Given the description of an element on the screen output the (x, y) to click on. 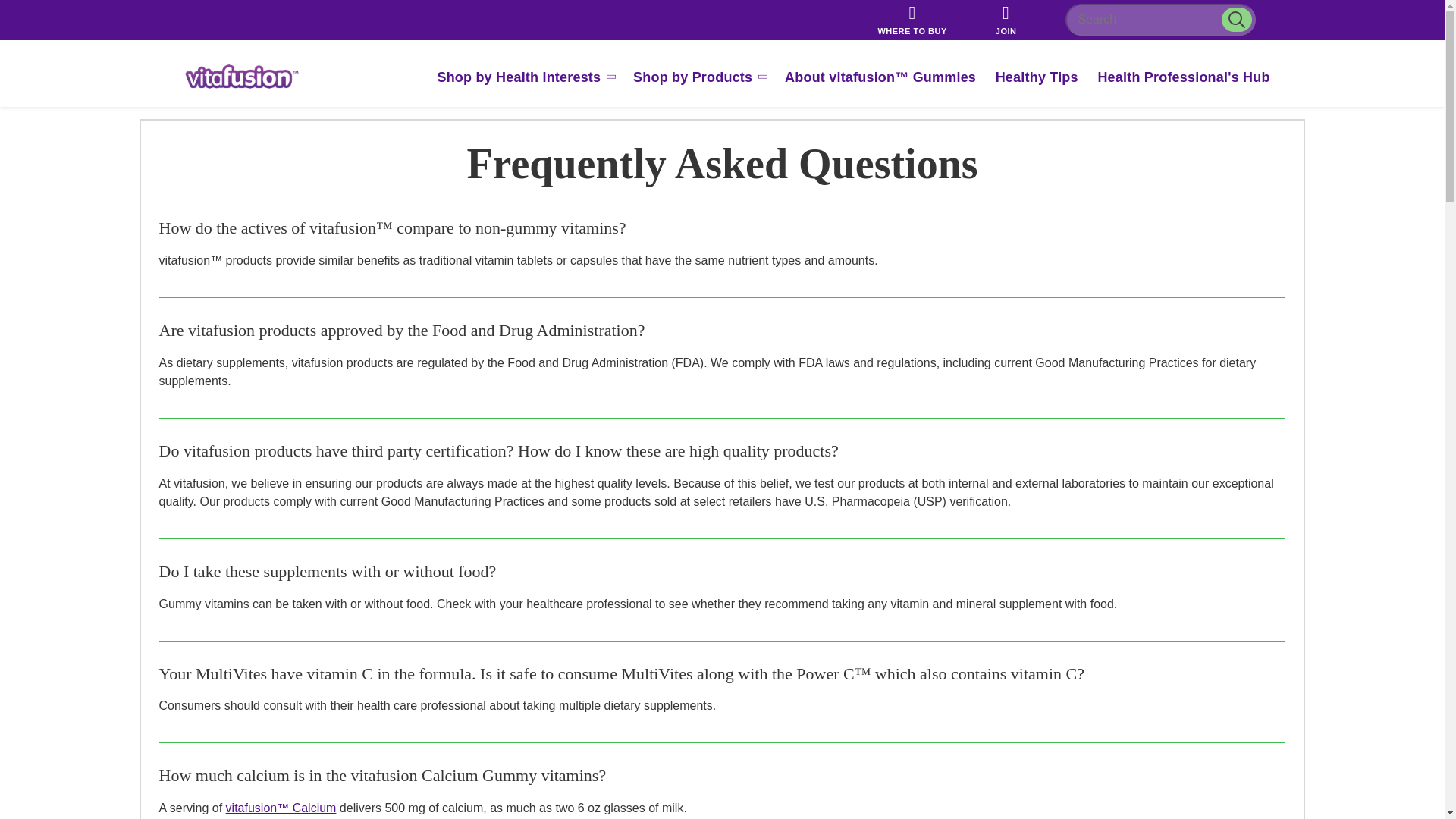
Health Professional's Hub (1183, 77)
Healthy Tips (1036, 77)
WHERE TO BUY (911, 20)
JOIN (1005, 20)
